Given the description of an element on the screen output the (x, y) to click on. 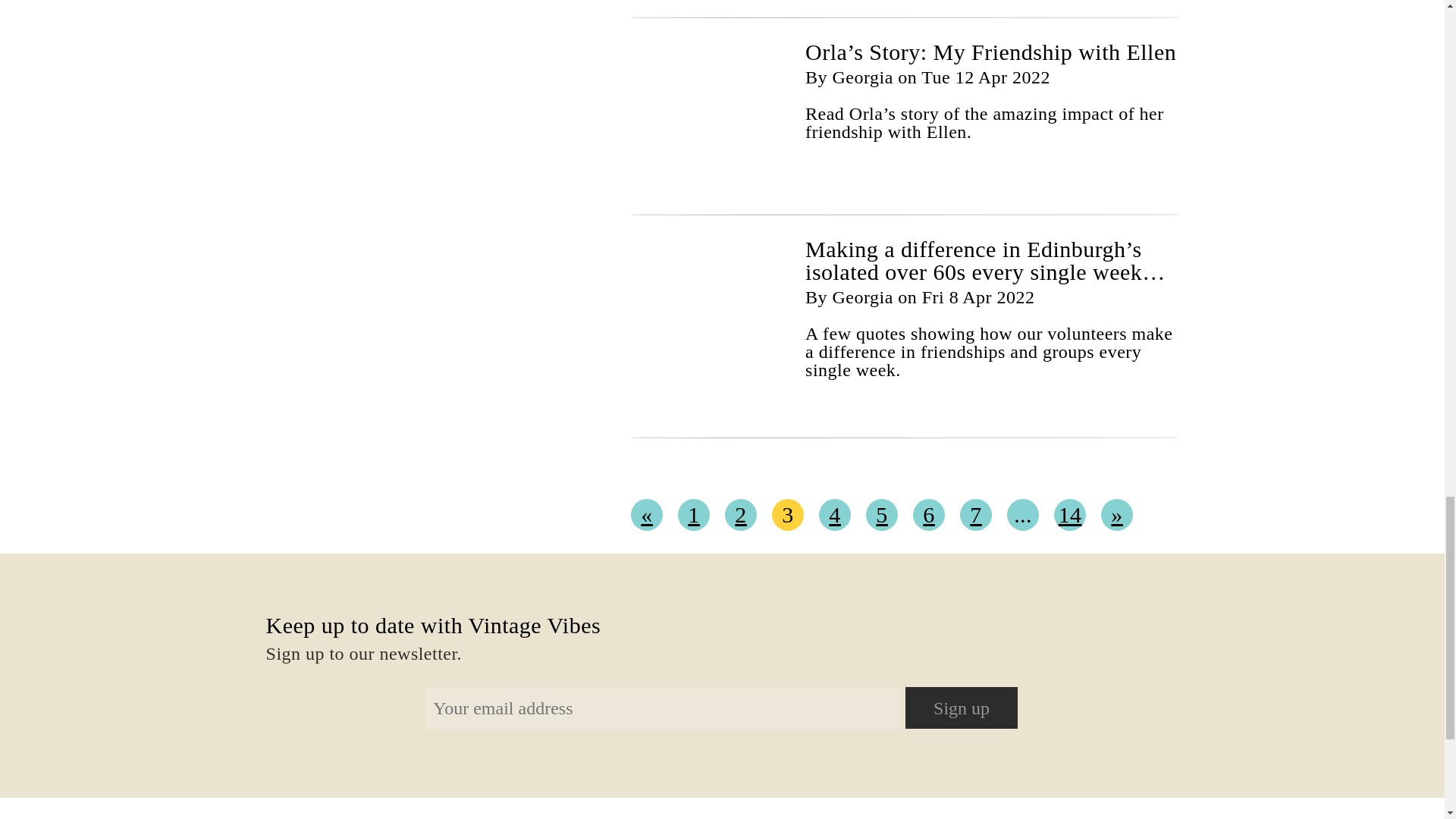
Sign up (961, 707)
4 (834, 514)
5 (882, 514)
1 (694, 514)
14 (1070, 514)
1 (694, 514)
6 (928, 514)
14 (1070, 514)
7 (975, 514)
4 (834, 514)
